Given the description of an element on the screen output the (x, y) to click on. 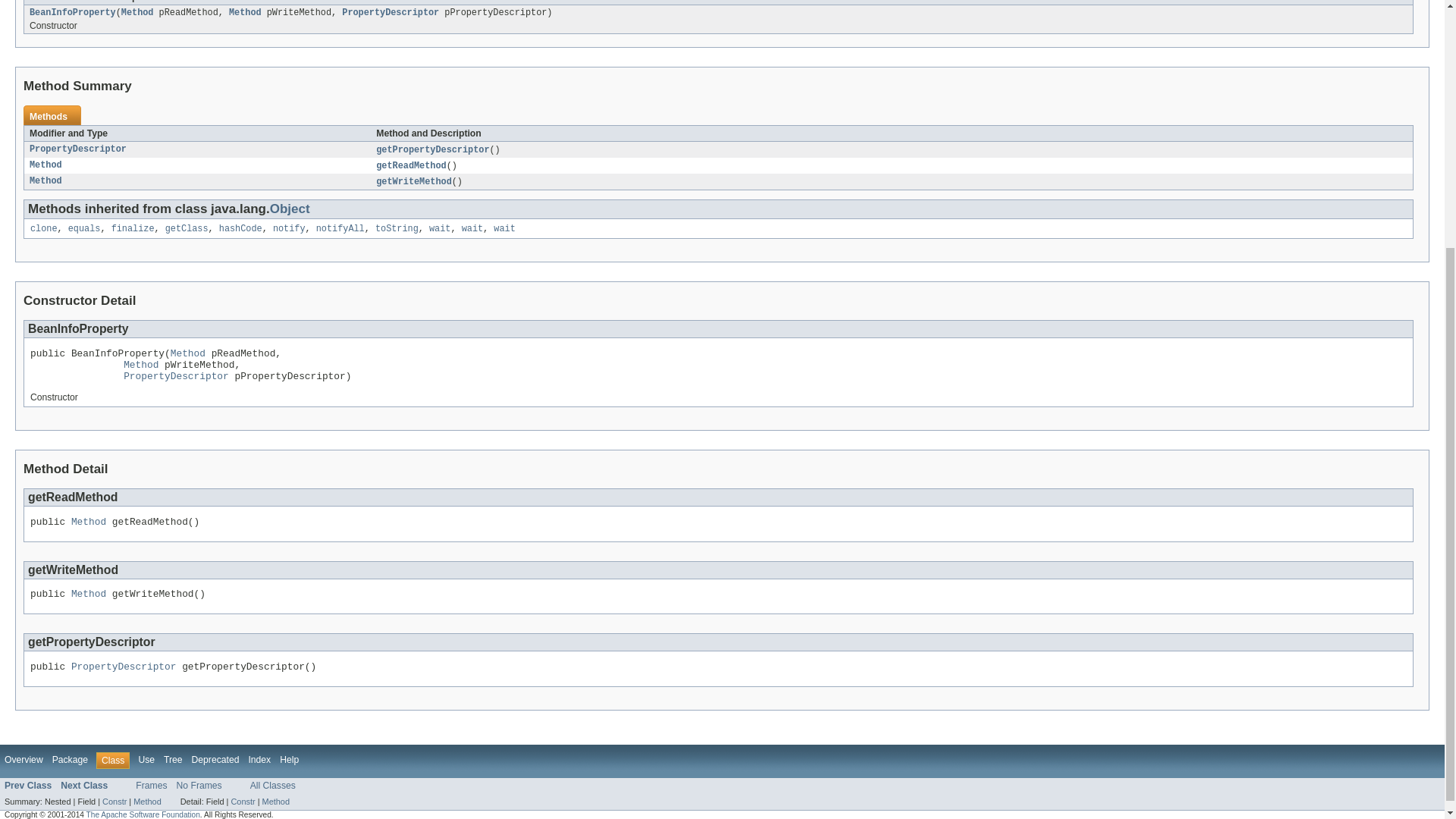
finalize (133, 228)
class or interface in java.lang (84, 228)
class or interface in java.lang (133, 228)
PropertyDescriptor (77, 149)
class or interface in java.lang.reflect (245, 12)
Method (45, 164)
class or interface in java.lang.reflect (45, 181)
getWriteMethod (413, 181)
getReadMethod (410, 165)
Object (289, 208)
clone (44, 228)
BeanInfoProperty (72, 12)
Method (245, 12)
Method (45, 181)
class or interface in java.beans (390, 12)
